Given the description of an element on the screen output the (x, y) to click on. 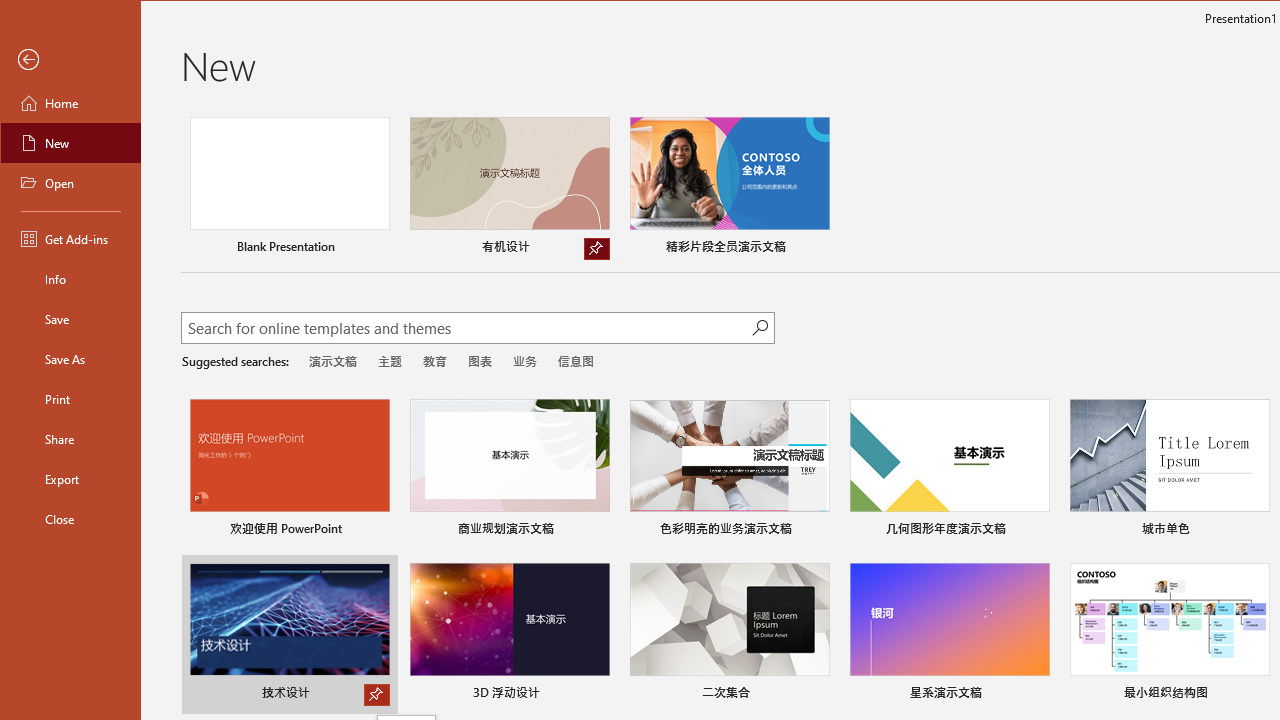
Get Add-ins (70, 238)
Start searching (760, 327)
Save As (70, 358)
Print (70, 398)
Info (70, 278)
New (70, 142)
